Given the description of an element on the screen output the (x, y) to click on. 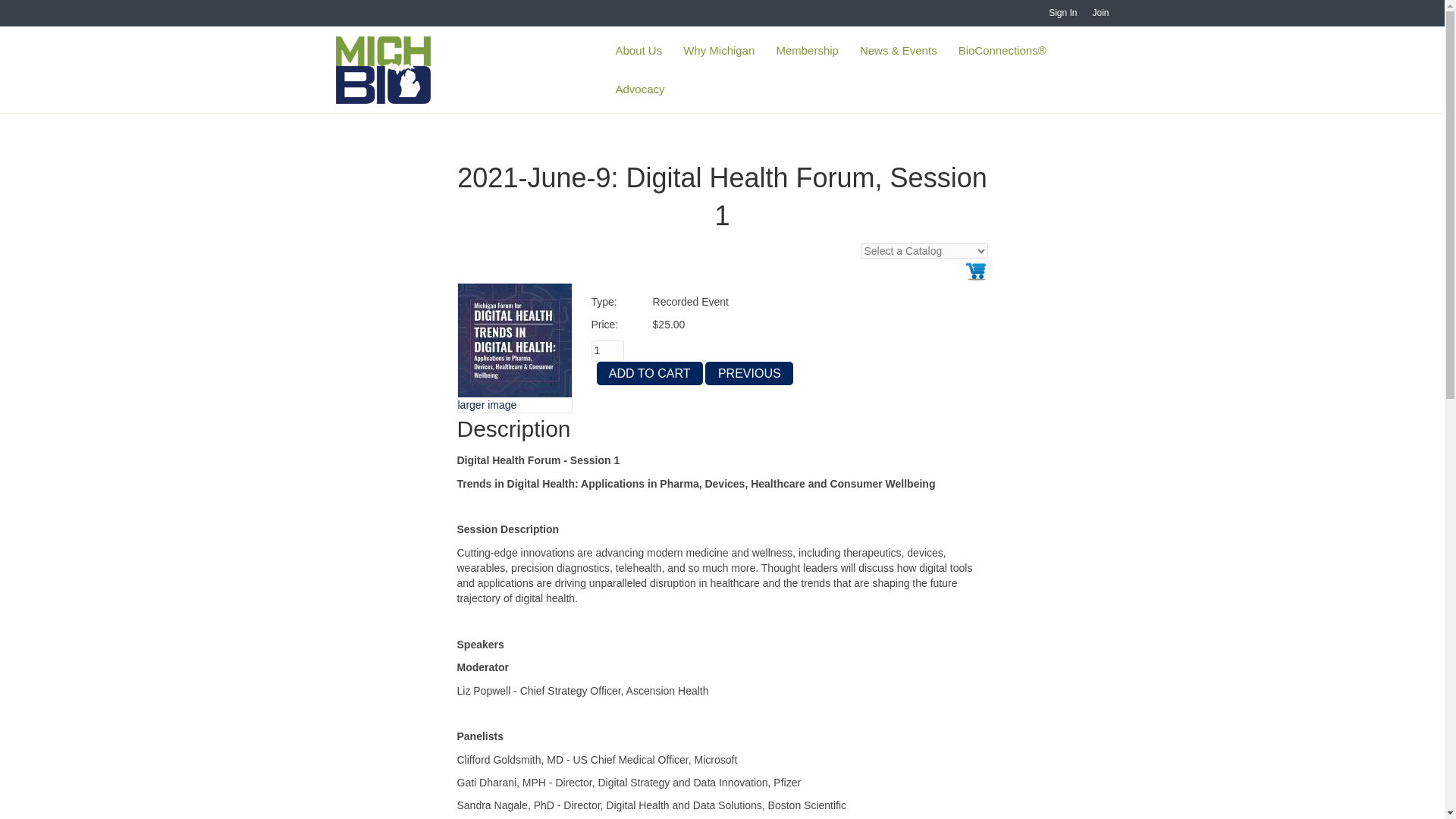
Membership (806, 50)
larger image (487, 404)
Sign In (1062, 13)
Advocacy (639, 88)
 Previous  (748, 372)
 Add to Cart  (648, 372)
Join (1100, 13)
 Add to Cart  (648, 372)
Why Michigan (718, 50)
About Us (638, 50)
1 (607, 350)
